Given the description of an element on the screen output the (x, y) to click on. 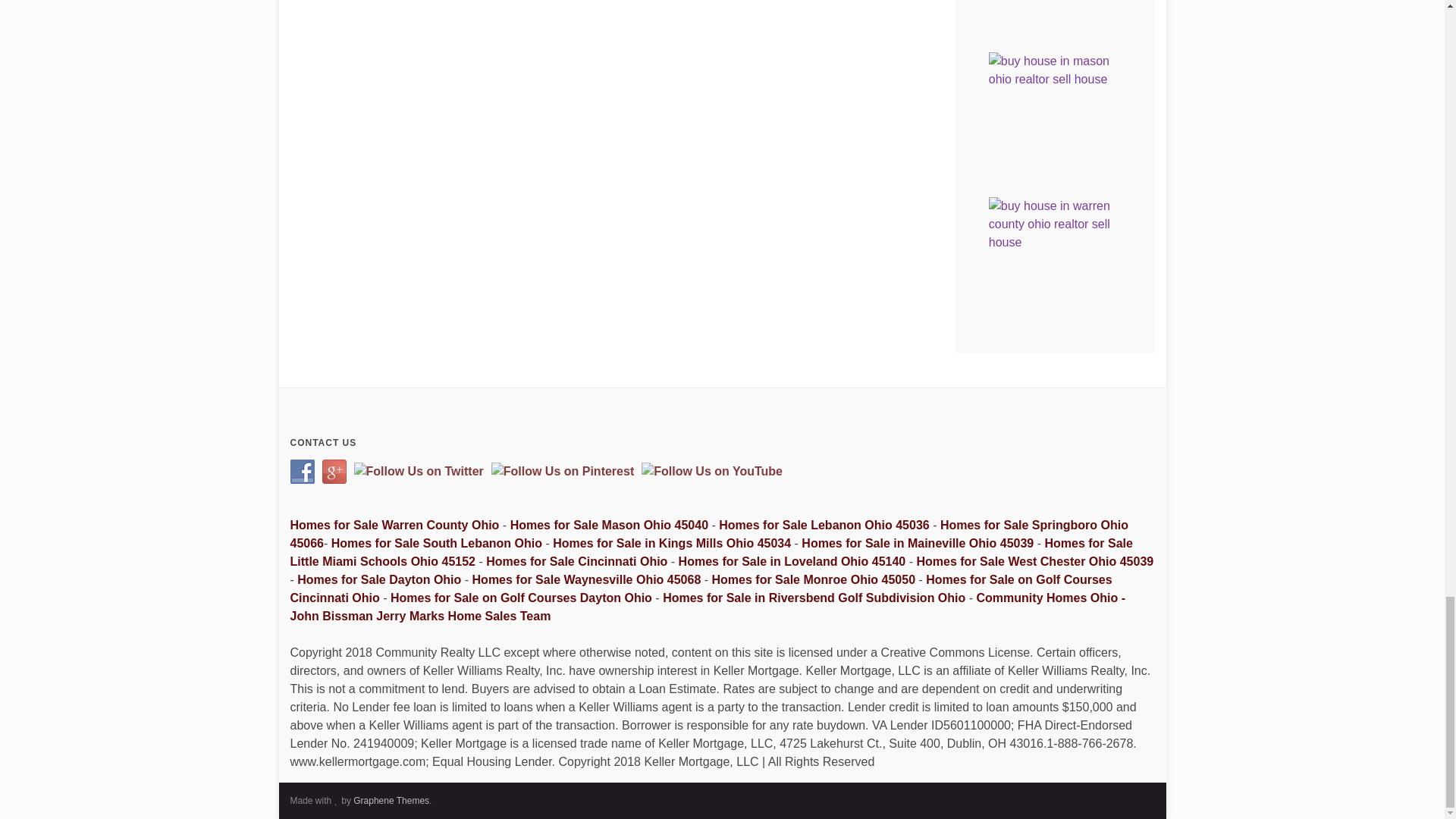
Follow Us on Twitter (418, 471)
Follow Us on Pinterest (562, 471)
Follow Us on Facebook (301, 471)
Follow Us on YouTube (712, 471)
